Given the description of an element on the screen output the (x, y) to click on. 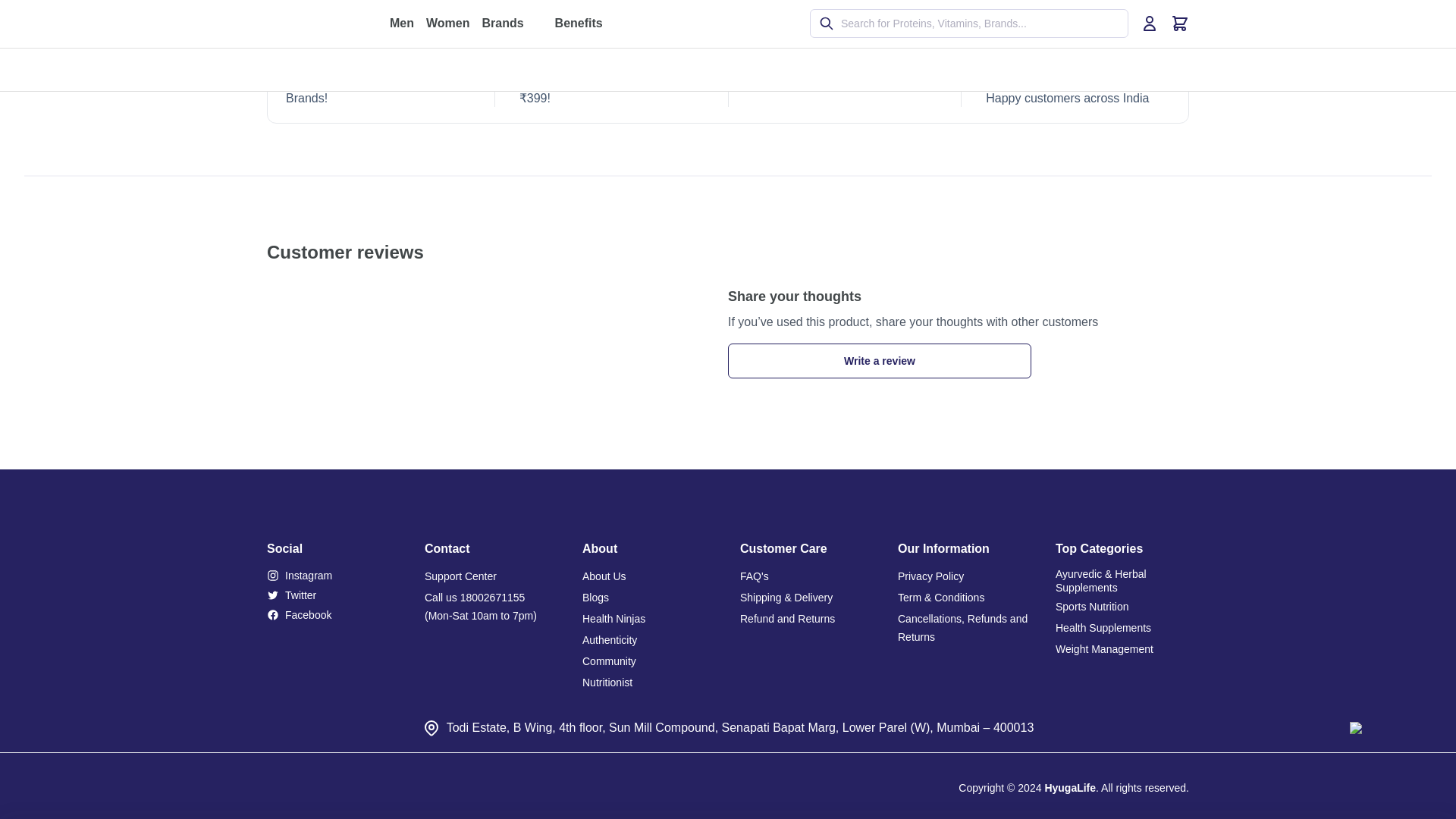
Twitter (333, 595)
Facebook (333, 614)
Instagram (333, 575)
